Given the description of an element on the screen output the (x, y) to click on. 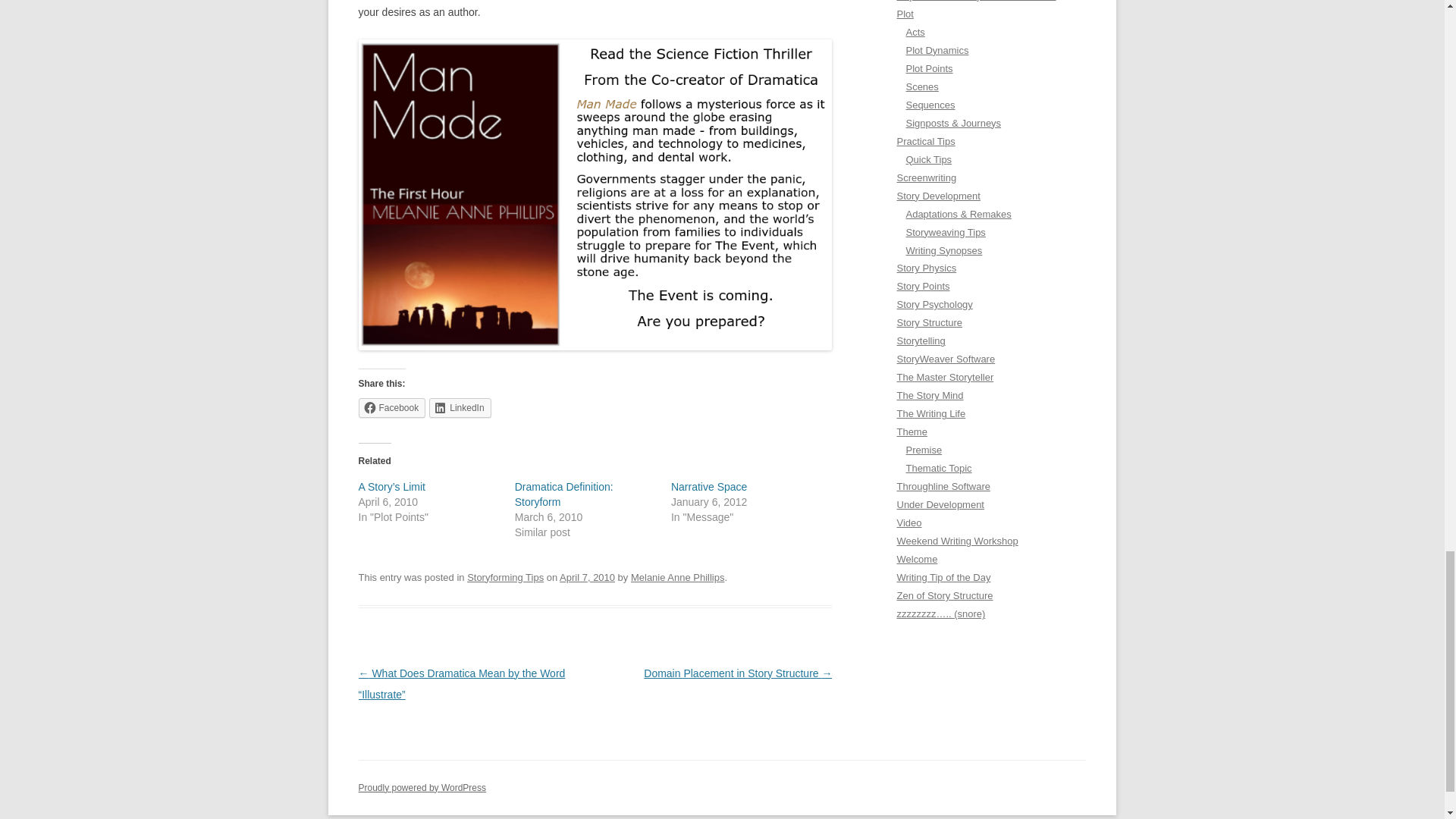
View all posts by Melanie Anne Phillips (676, 577)
Dramatica Definition: Storyform (563, 493)
Melanie Anne Phillips (676, 577)
Narrative Space (708, 486)
Narrative Space (708, 486)
Storyforming Tips (505, 577)
Click to share on Facebook (391, 407)
Semantic Personal Publishing Platform (422, 787)
2:33 pm (586, 577)
LinkedIn (459, 407)
Facebook (391, 407)
April 7, 2010 (586, 577)
Dramatica Definition: Storyform (563, 493)
Click to share on LinkedIn (459, 407)
